Given the description of an element on the screen output the (x, y) to click on. 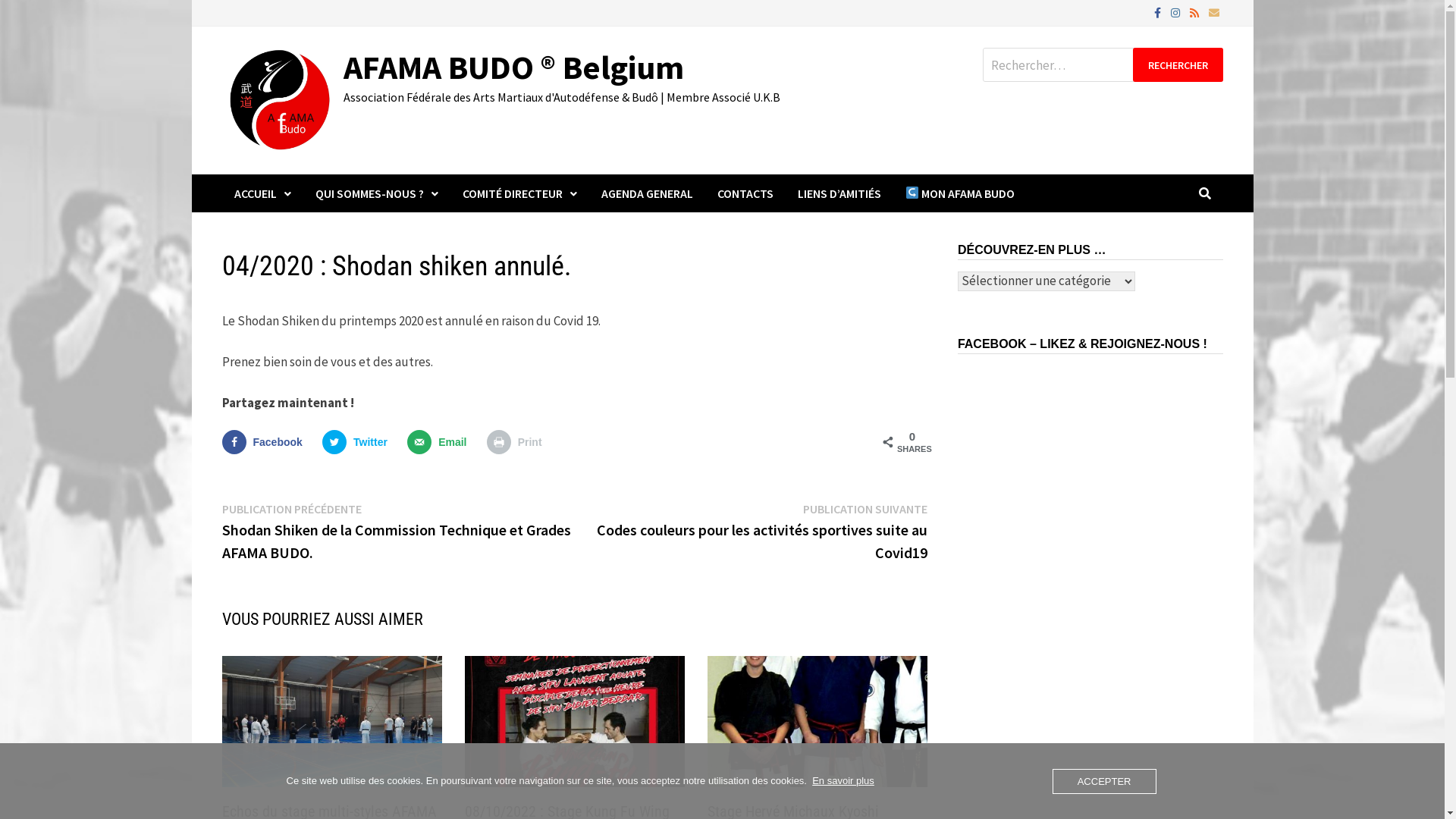
QUI SOMMES-NOUS ? Element type: text (376, 193)
Facebook Element type: text (264, 441)
RSS Element type: hover (1195, 11)
CONTACTS Element type: text (745, 193)
ACCEPTER Element type: text (1104, 780)
MON AFAMA BUDO Element type: text (959, 193)
Instagram Element type: hover (1175, 11)
Twitter Element type: text (358, 441)
AGENDA GENERAL Element type: text (646, 193)
En savoir plus Element type: text (843, 780)
Print Element type: text (517, 441)
Email Element type: text (440, 441)
Facebook Element type: hover (1157, 11)
Rechercher Element type: text (1177, 64)
ACCUEIL Element type: text (261, 193)
E-mail Element type: hover (1213, 11)
